Given the description of an element on the screen output the (x, y) to click on. 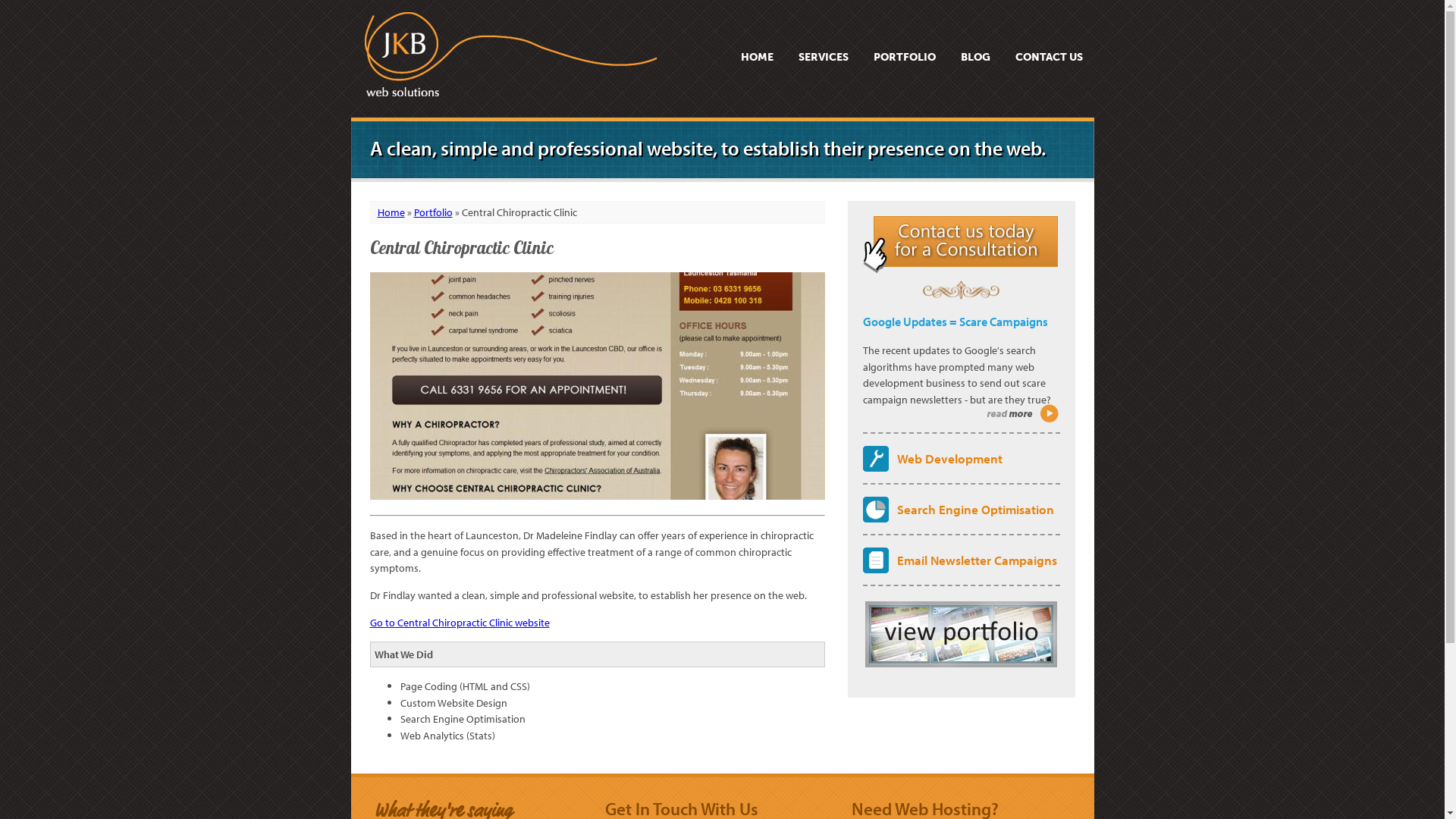
Email Newsletter Campaigns Element type: text (976, 559)
Search Engine Optimisation Element type: text (974, 508)
CONTACT US Element type: text (1048, 56)
SERVICES Element type: text (822, 56)
BLOG Element type: text (974, 56)
Go to Central Chiropractic Clinic website Element type: text (459, 622)
PORTFOLIO Element type: text (904, 56)
Home Element type: text (390, 211)
HOME Element type: text (756, 56)
Web Development Element type: text (948, 457)
Google Updates = Scare Campaigns Element type: text (955, 321)
Central Chiropractic Clinic Screenshot Element type: hover (597, 385)
Portfolio Element type: text (433, 211)
